Given the description of an element on the screen output the (x, y) to click on. 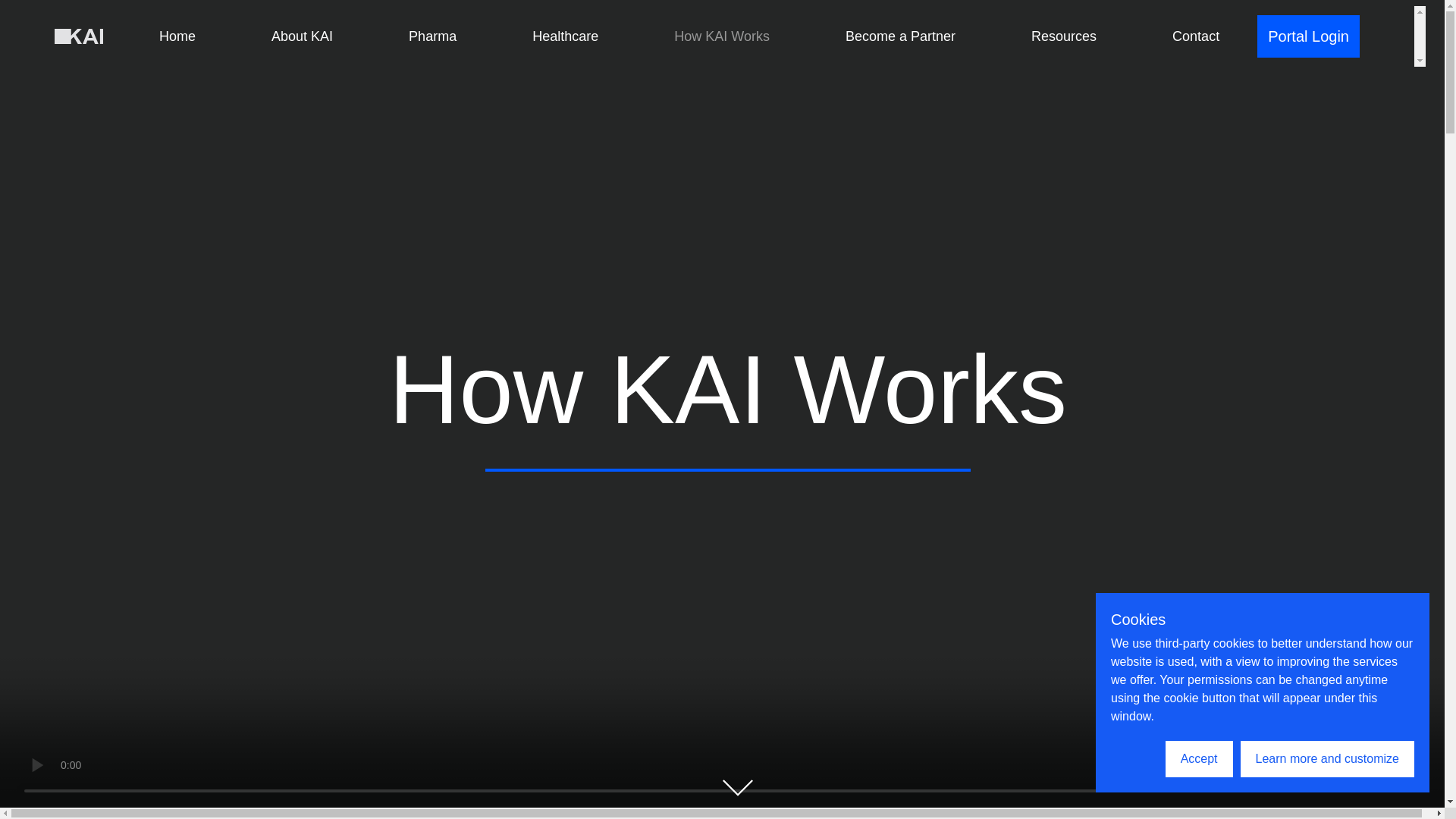
About KAI (301, 35)
How KAI Works (722, 35)
Pharma (433, 35)
Learn more and customize (1326, 759)
Portal Login (1308, 36)
Healthcare (565, 35)
Become a Partner (900, 35)
Resources (1063, 35)
Home (176, 35)
Accept (1199, 759)
Contact (1196, 35)
